Given the description of an element on the screen output the (x, y) to click on. 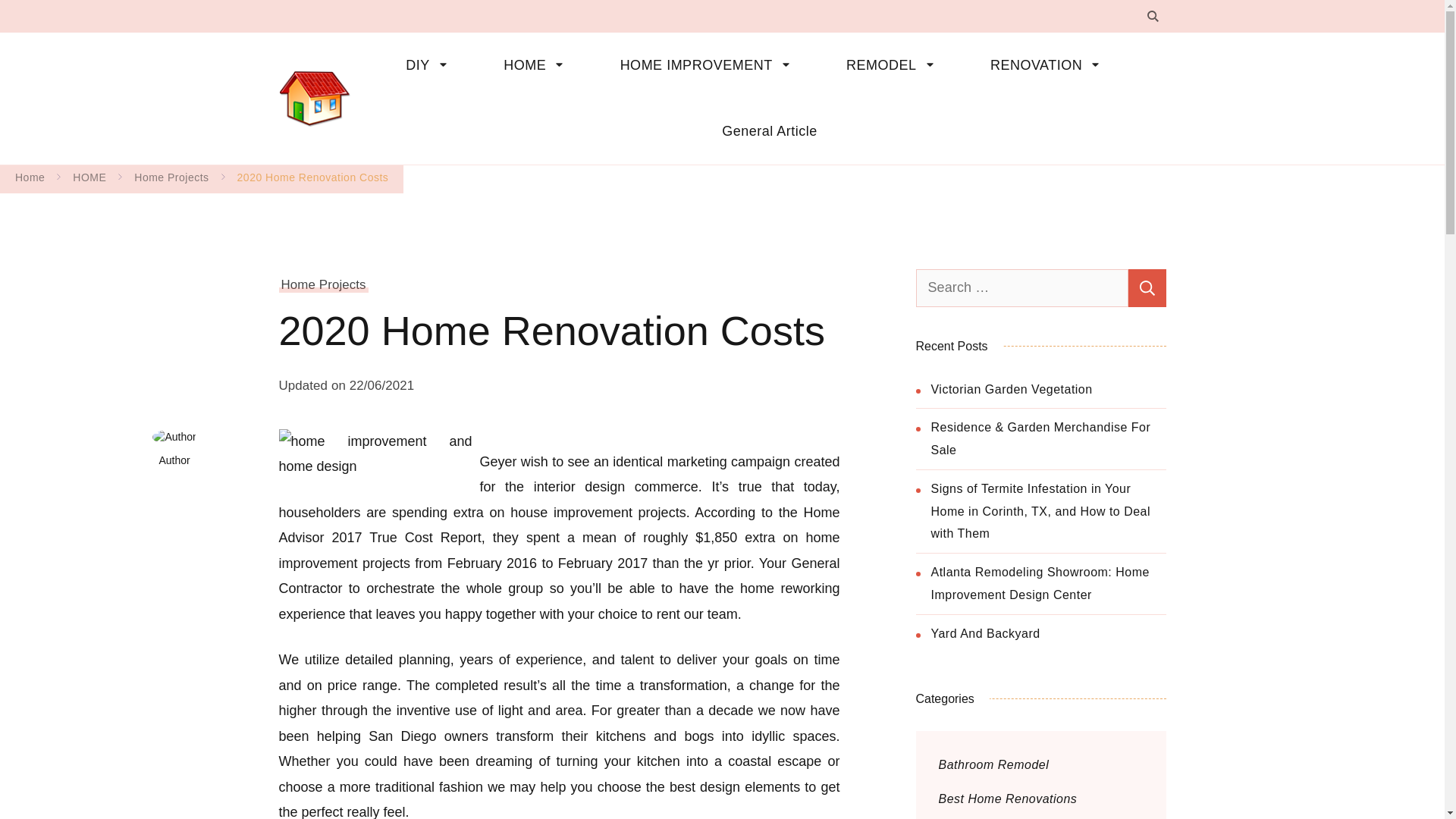
REMODEL (896, 65)
RENOVATION (1051, 65)
General Article (757, 131)
HOME IMPROVEMENT (710, 65)
Search (1147, 287)
DIY (431, 65)
dreamstreetlive.com (453, 85)
HOME (538, 65)
Search (1147, 287)
